Given the description of an element on the screen output the (x, y) to click on. 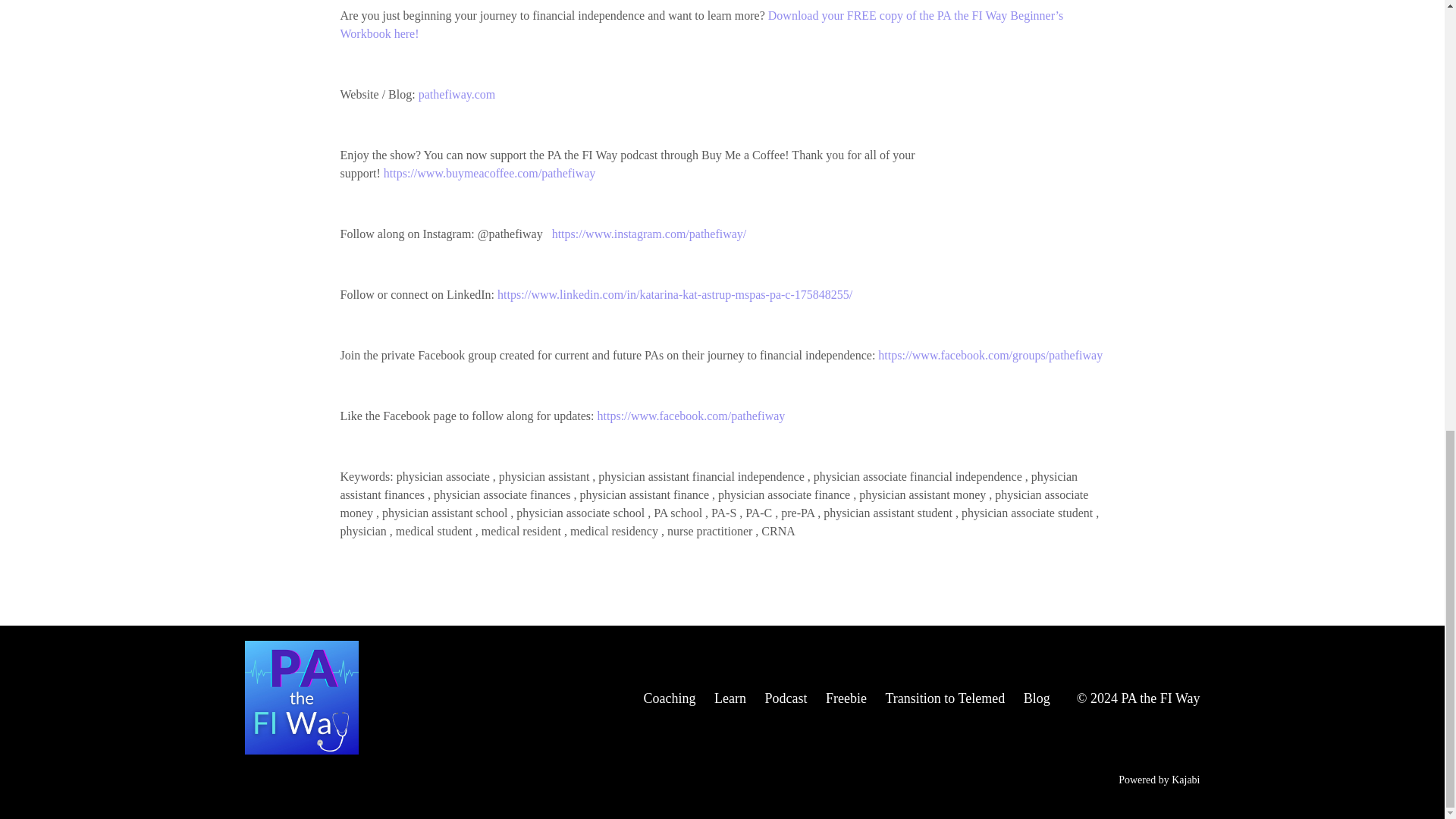
Podcast (785, 698)
Transition to Telemed (944, 698)
Freebie (845, 698)
pathefiway.com (457, 93)
Blog (1036, 698)
Powered by Kajabi (1158, 779)
Learn (729, 698)
Coaching (669, 698)
